Given the description of an element on the screen output the (x, y) to click on. 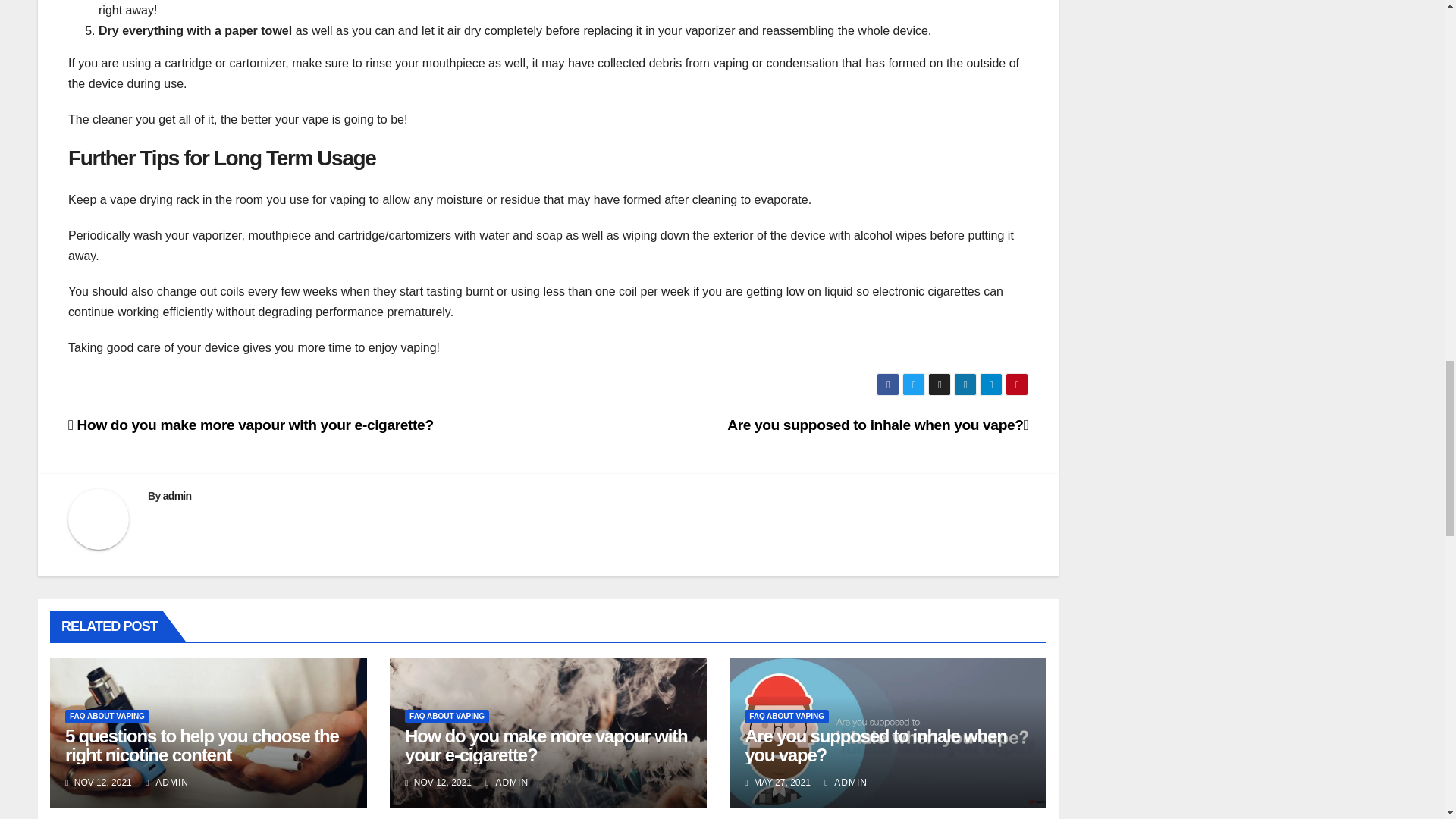
How do you make more vapour with your e-cigarette? (545, 744)
Permalink to: Are you supposed to inhale when you vape? (875, 744)
FAQ ABOUT VAPING (107, 716)
ADMIN (167, 782)
ADMIN (506, 782)
admin (177, 495)
Are you supposed to inhale when you vape? (875, 744)
ADMIN (845, 782)
5 questions to help you choose the right nicotine content (202, 744)
How do you make more vapour with your e-cigarette? (250, 424)
FAQ ABOUT VAPING (786, 716)
FAQ ABOUT VAPING (446, 716)
Are you supposed to inhale when you vape? (876, 424)
